Given the description of an element on the screen output the (x, y) to click on. 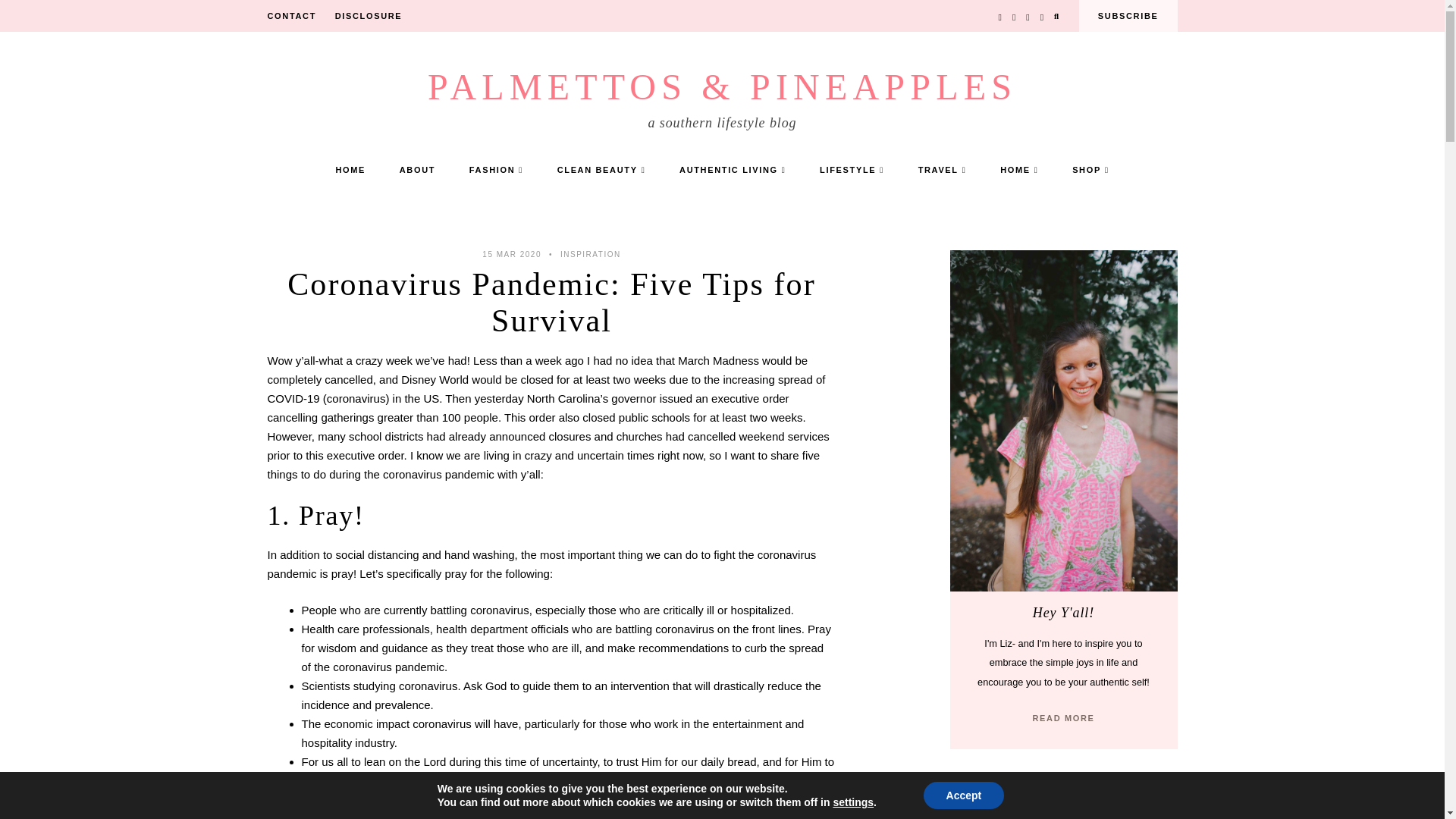
HOME (349, 169)
SUBSCRIBE (1127, 15)
ABOUT (416, 169)
View all posts in Inspiration (590, 254)
DISCLOSURE (368, 15)
FASHION (495, 169)
CONTACT (290, 15)
